Given the description of an element on the screen output the (x, y) to click on. 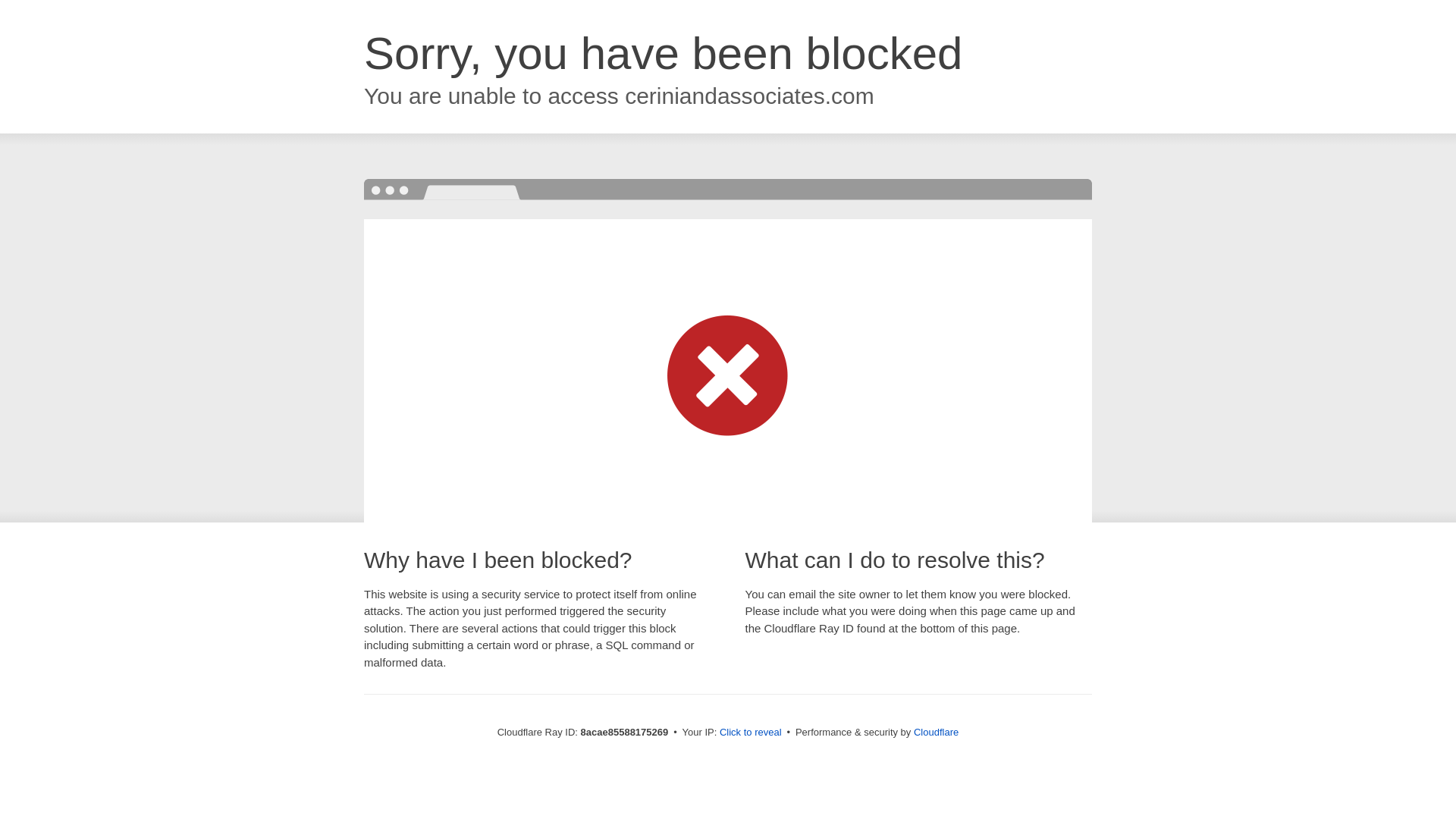
Cloudflare (936, 731)
Click to reveal (750, 732)
